Given the description of an element on the screen output the (x, y) to click on. 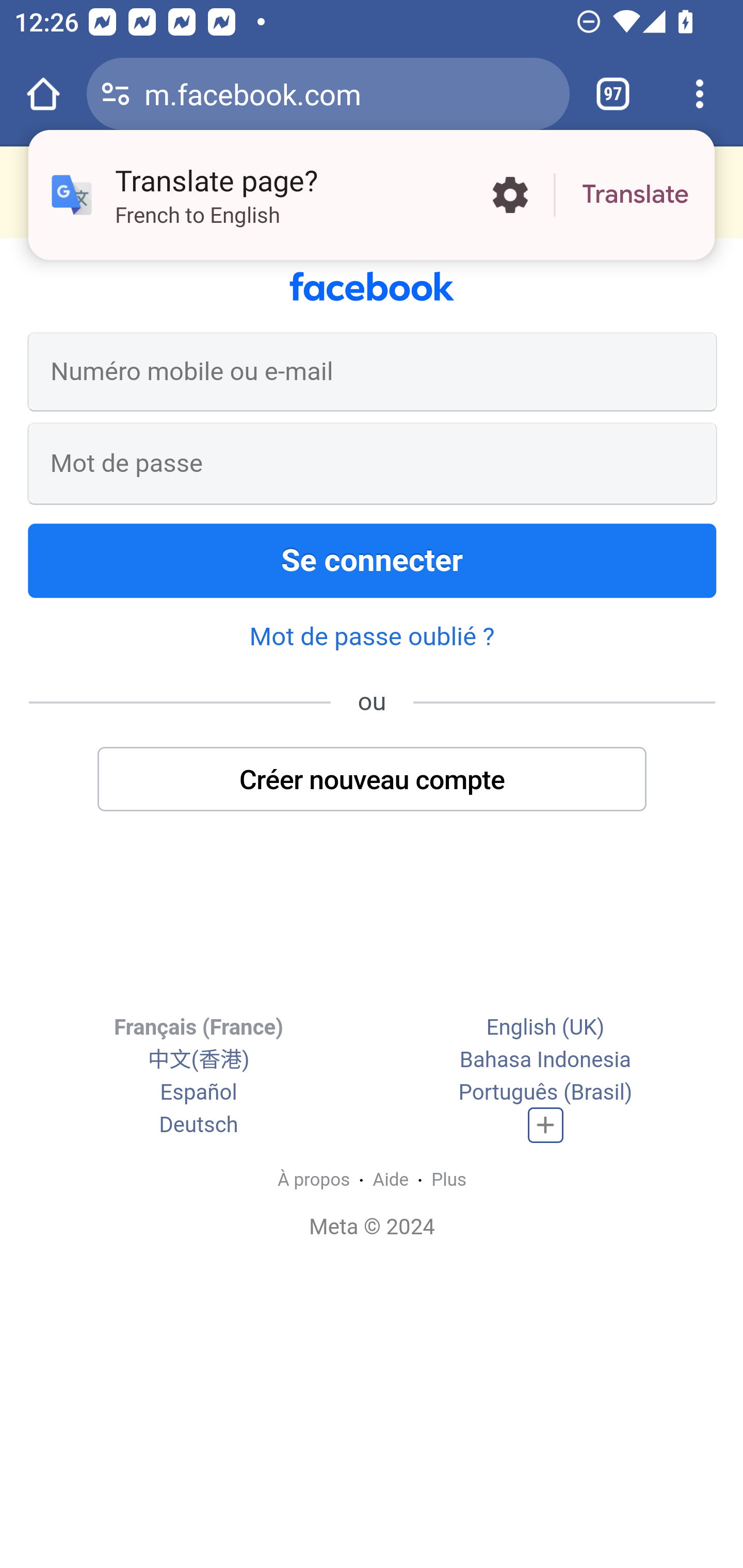
Open the home page (43, 93)
Connection is secure (115, 93)
Switch or close tabs (612, 93)
Customize and control Google Chrome (699, 93)
m.facebook.com (349, 92)
Translate (634, 195)
More options in the Translate page? (509, 195)
facebook (372, 286)
Se connecter (372, 560)
Mot de passe oublié ? (371, 635)
Créer nouveau compte (372, 778)
English (UK) (544, 1027)
中文(香港) (198, 1060)
Bahasa Indonesia (545, 1060)
Español (198, 1092)
Português (Brasil) (544, 1092)
Liste complète des langues (545, 1125)
Deutsch (198, 1124)
À propos (313, 1179)
Aide (390, 1179)
